Given the description of an element on the screen output the (x, y) to click on. 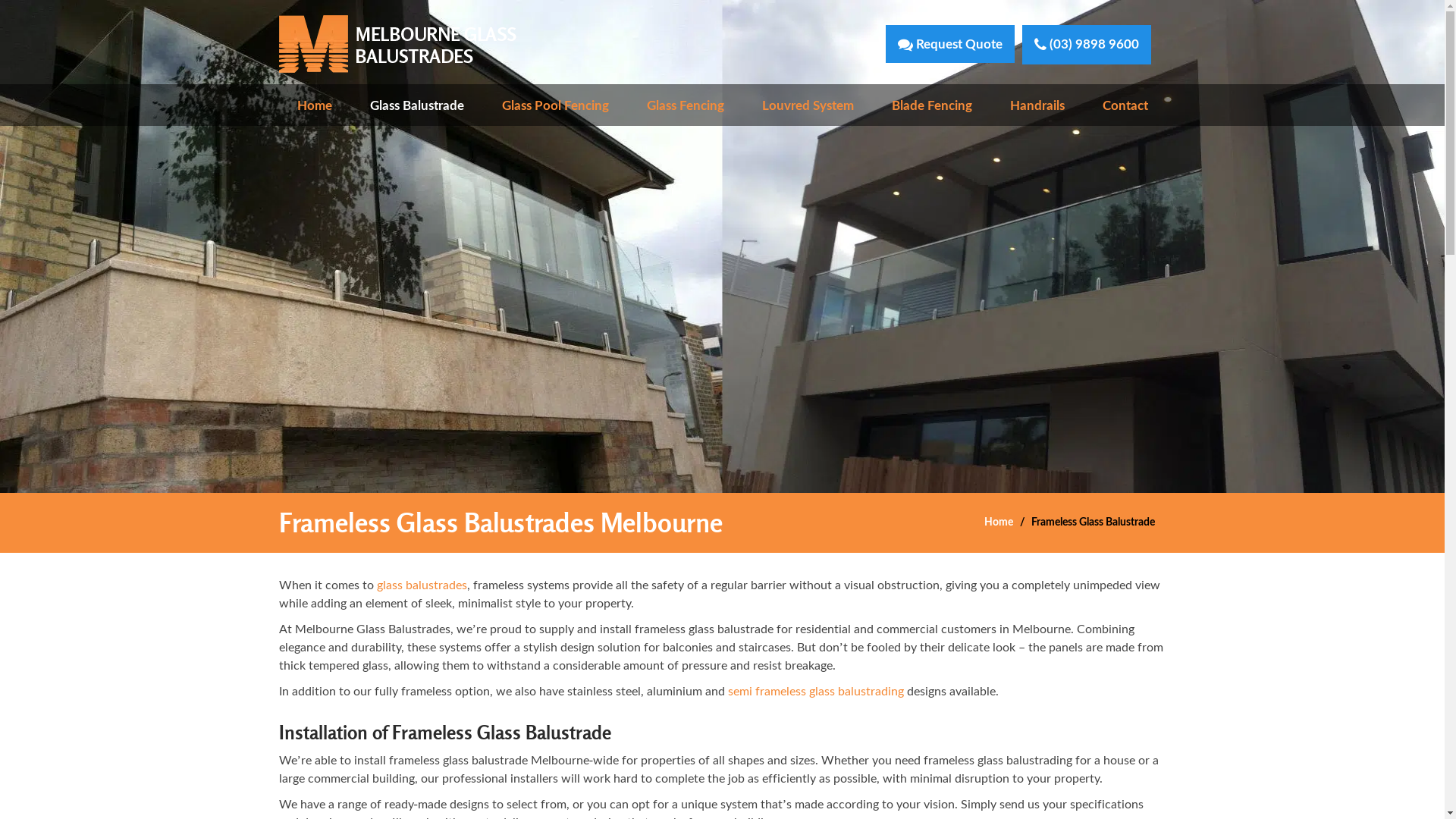
Glass Balustrade Element type: text (417, 104)
Melbourne Glass Balustrades Element type: hover (397, 43)
Louvred System Element type: text (807, 104)
Request Quote Element type: text (949, 43)
Melbourne Glass Balustrades Element type: hover (397, 43)
Home Element type: text (998, 520)
(03) 9898 9600 Element type: text (1086, 43)
glass balustrades Element type: text (421, 583)
Blade Fencing Element type: text (931, 104)
Handrails Element type: text (1037, 104)
Contact Element type: text (1125, 104)
Glass Pool Fencing Element type: text (555, 104)
Home Element type: text (314, 104)
semi frameless glass balustrading Element type: text (815, 689)
Glass Fencing Element type: text (684, 104)
